Given the description of an element on the screen output the (x, y) to click on. 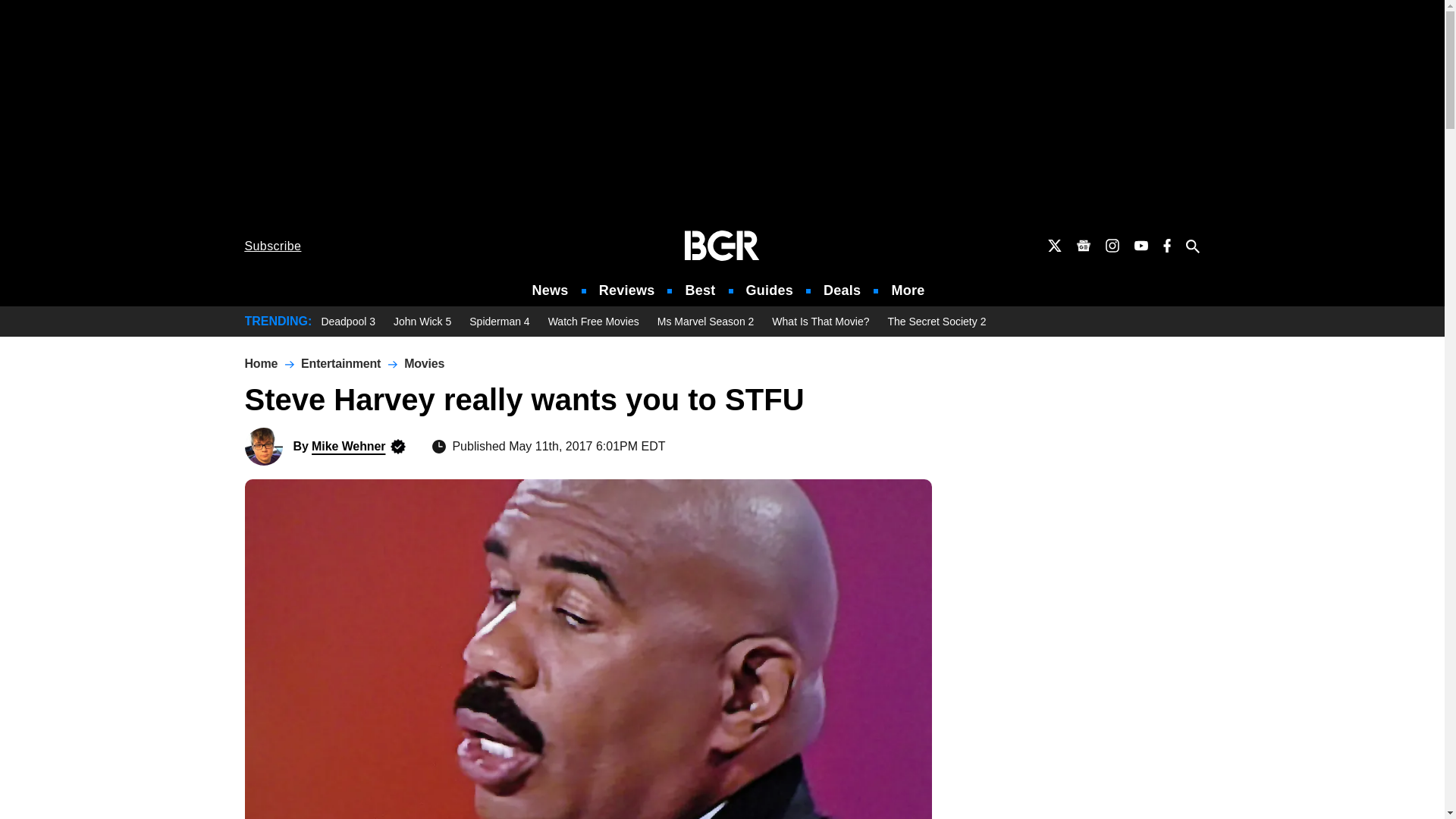
Reviews (626, 290)
More (907, 290)
News (550, 290)
Guides (769, 290)
Deals (842, 290)
Posts by Mike Wehner (348, 445)
Best (699, 290)
Subscribe (272, 245)
